Given the description of an element on the screen output the (x, y) to click on. 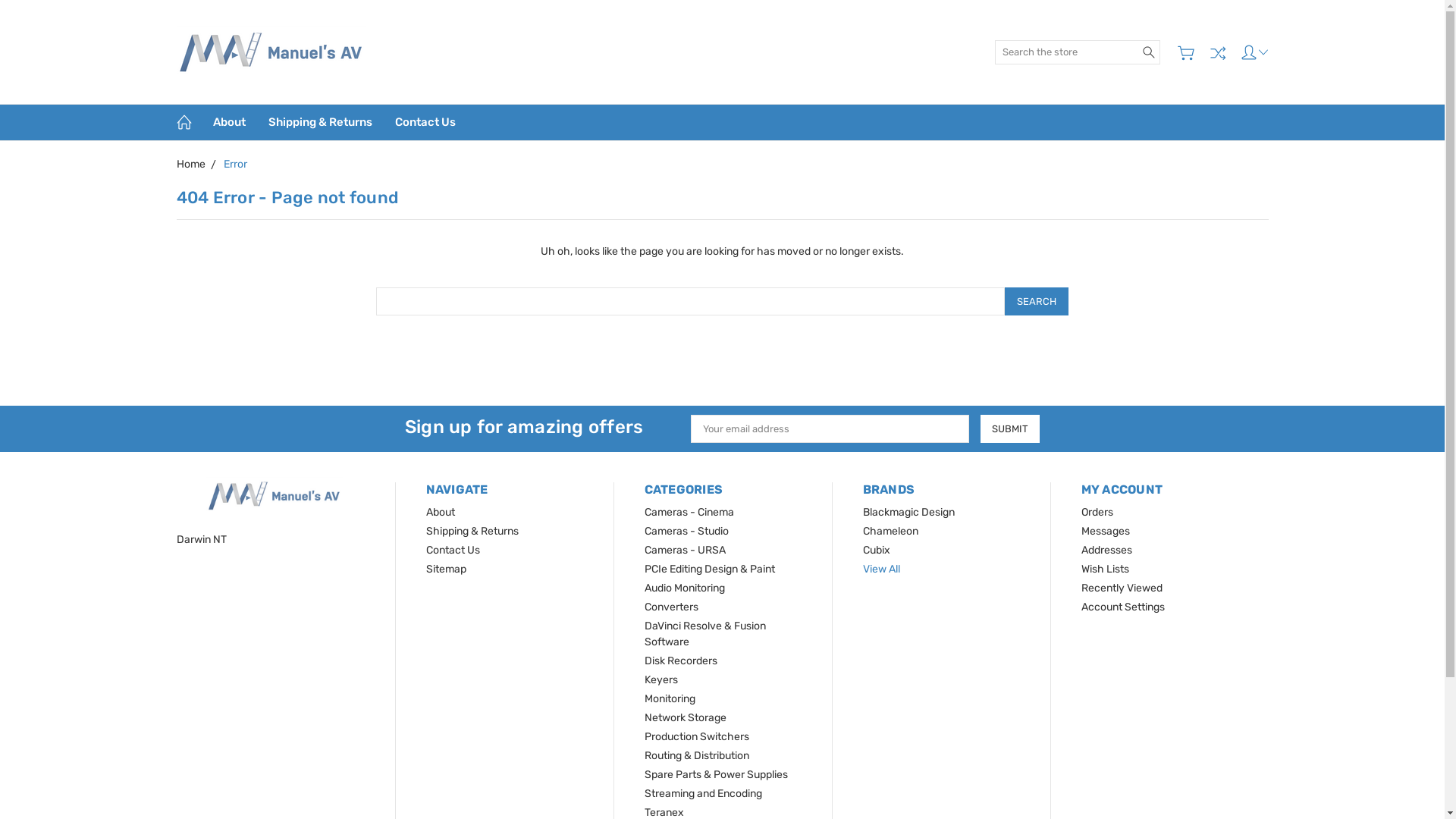
Manuels AV Element type: hover (270, 51)
Network Storage Element type: text (685, 717)
Home Element type: text (189, 163)
PCIe Editing Design & Paint Element type: text (709, 568)
Shipping & Returns Element type: text (319, 122)
Blackmagic Design Element type: text (908, 511)
Disk Recorders Element type: text (680, 660)
Search Element type: text (1148, 51)
DaVinci Resolve & Fusion Software Element type: text (704, 633)
Account Settings Element type: text (1122, 606)
Wish Lists Element type: text (1105, 568)
Messages Element type: text (1105, 530)
Cameras - Studio Element type: text (686, 530)
Keyers Element type: text (660, 679)
Contact Us Element type: text (453, 549)
Manuels AV Element type: hover (274, 495)
Routing & Distribution Element type: text (696, 755)
About Element type: text (440, 511)
Sitemap Element type: text (446, 568)
Shipping & Returns Element type: text (472, 530)
Spare Parts & Power Supplies Element type: text (715, 774)
Submit Element type: text (1009, 428)
Cubix Element type: text (876, 549)
Converters Element type: text (671, 606)
Cameras - Cinema Element type: text (689, 511)
Addresses Element type: text (1106, 549)
Cameras - URSA Element type: text (684, 549)
Search Element type: text (1036, 301)
Monitoring Element type: text (669, 698)
Recently Viewed Element type: text (1121, 587)
Production Switchers Element type: text (696, 736)
Compare Element type: hover (1217, 51)
Chameleon Element type: text (890, 530)
Orders Element type: text (1097, 511)
Audio Monitoring Element type: text (684, 587)
View All Element type: text (881, 568)
Contact Us Element type: text (425, 122)
About Element type: text (229, 122)
Streaming and Encoding Element type: text (703, 793)
